Given the description of an element on the screen output the (x, y) to click on. 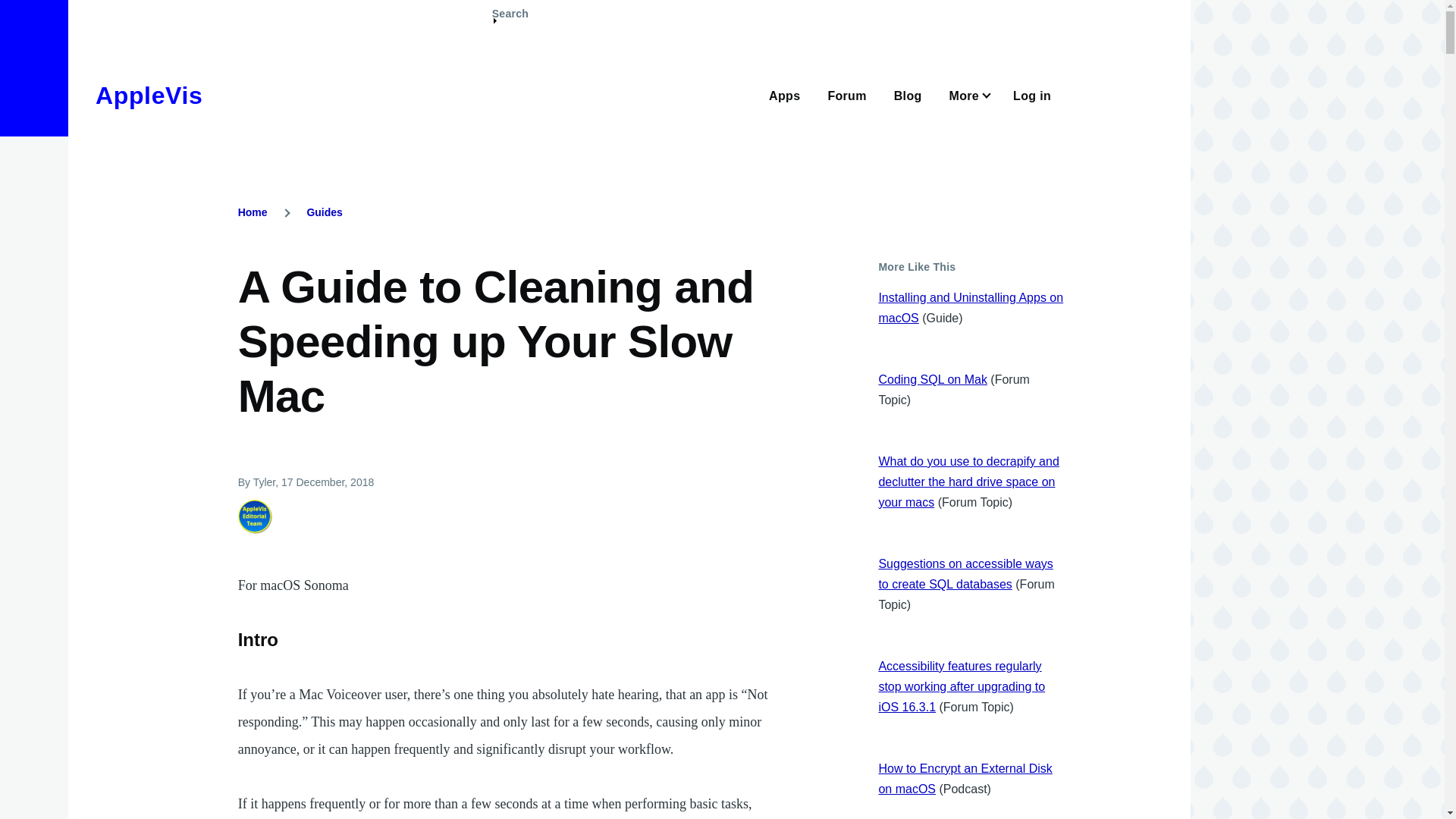
AppleVis (149, 94)
Home (252, 212)
Skip to main content (595, 6)
Home (149, 94)
Search (510, 20)
Guides (323, 212)
